Given the description of an element on the screen output the (x, y) to click on. 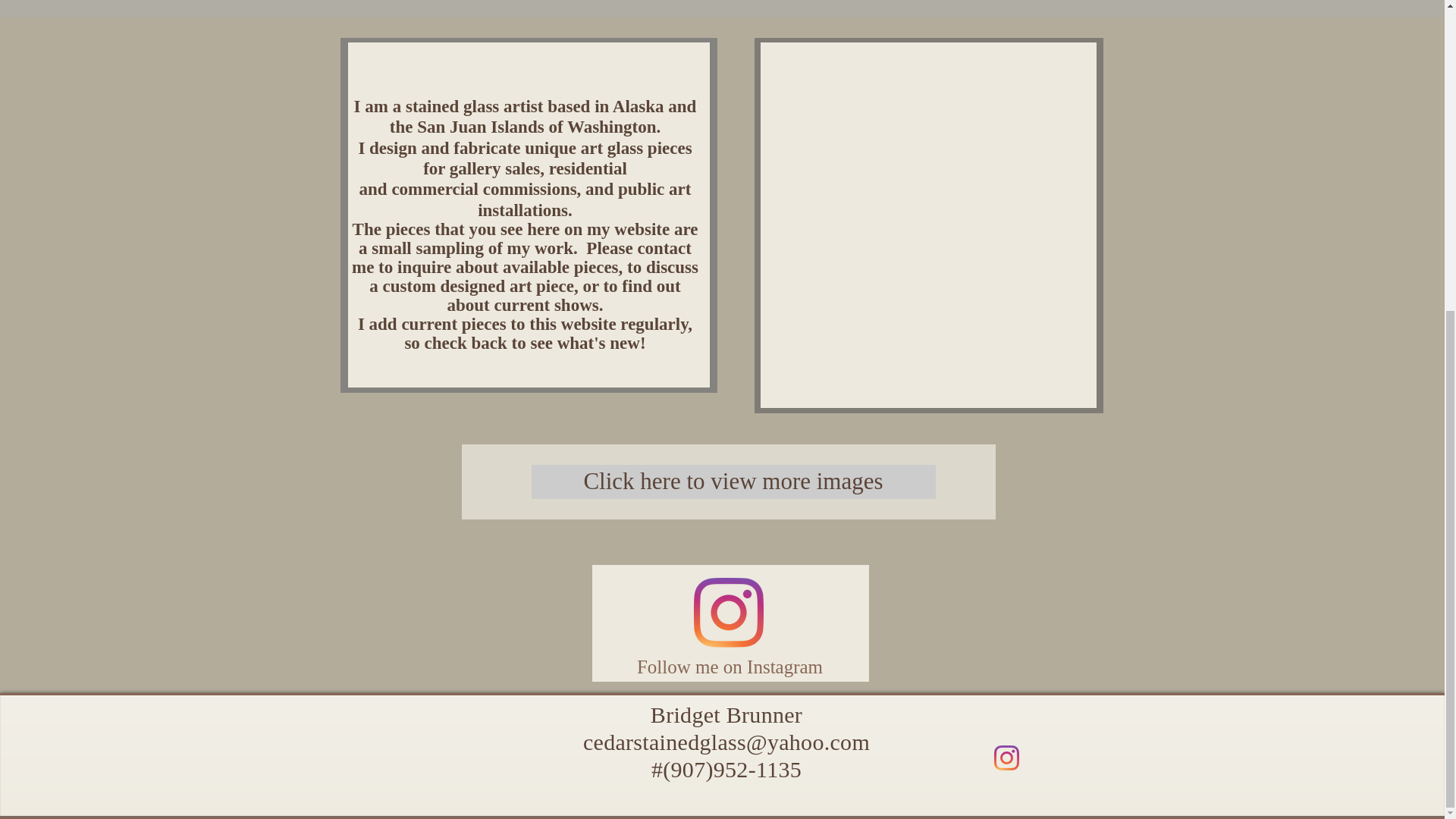
Click here to view more images (732, 481)
